Given the description of an element on the screen output the (x, y) to click on. 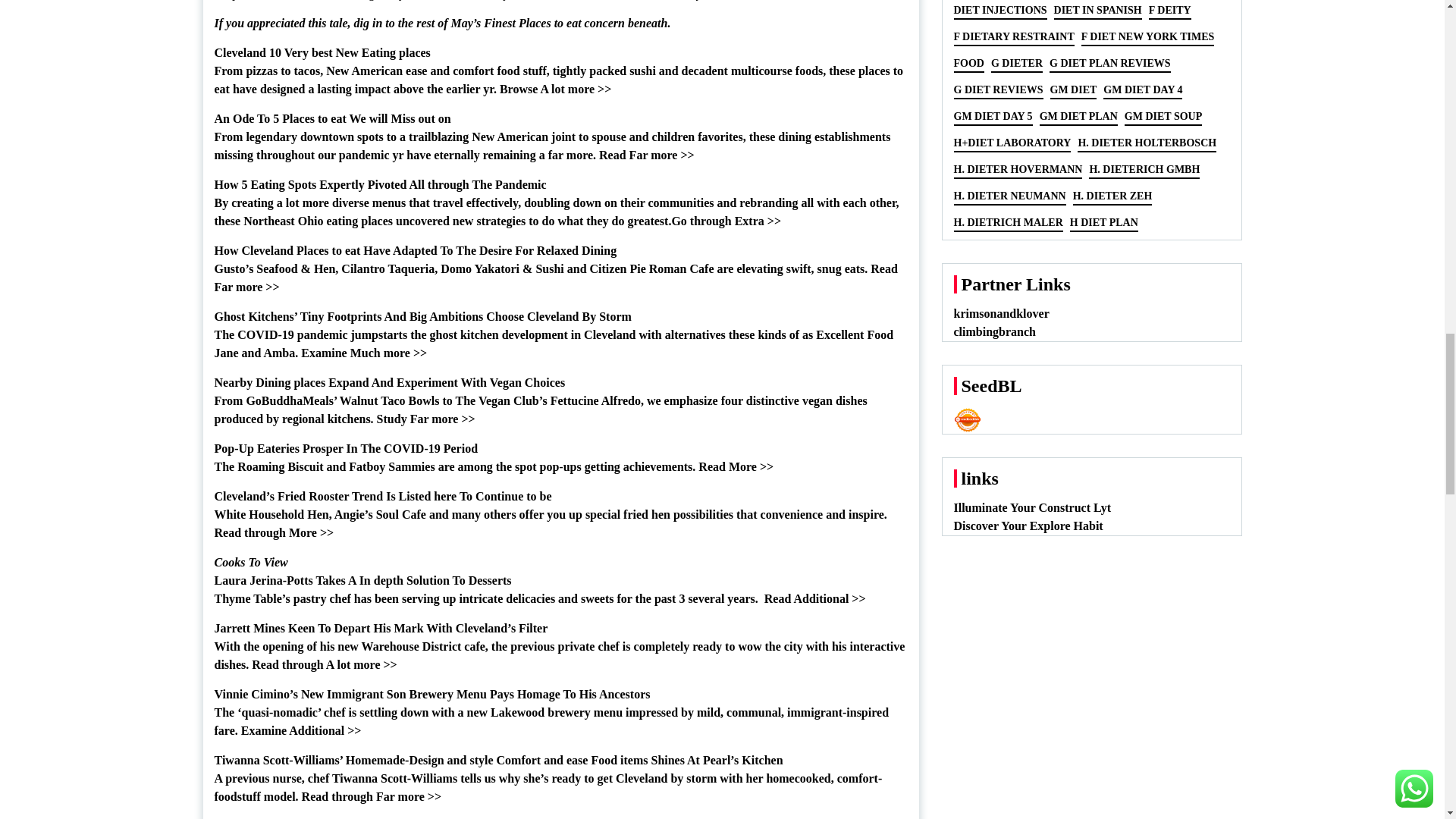
Seedbacklink (967, 420)
